Given the description of an element on the screen output the (x, y) to click on. 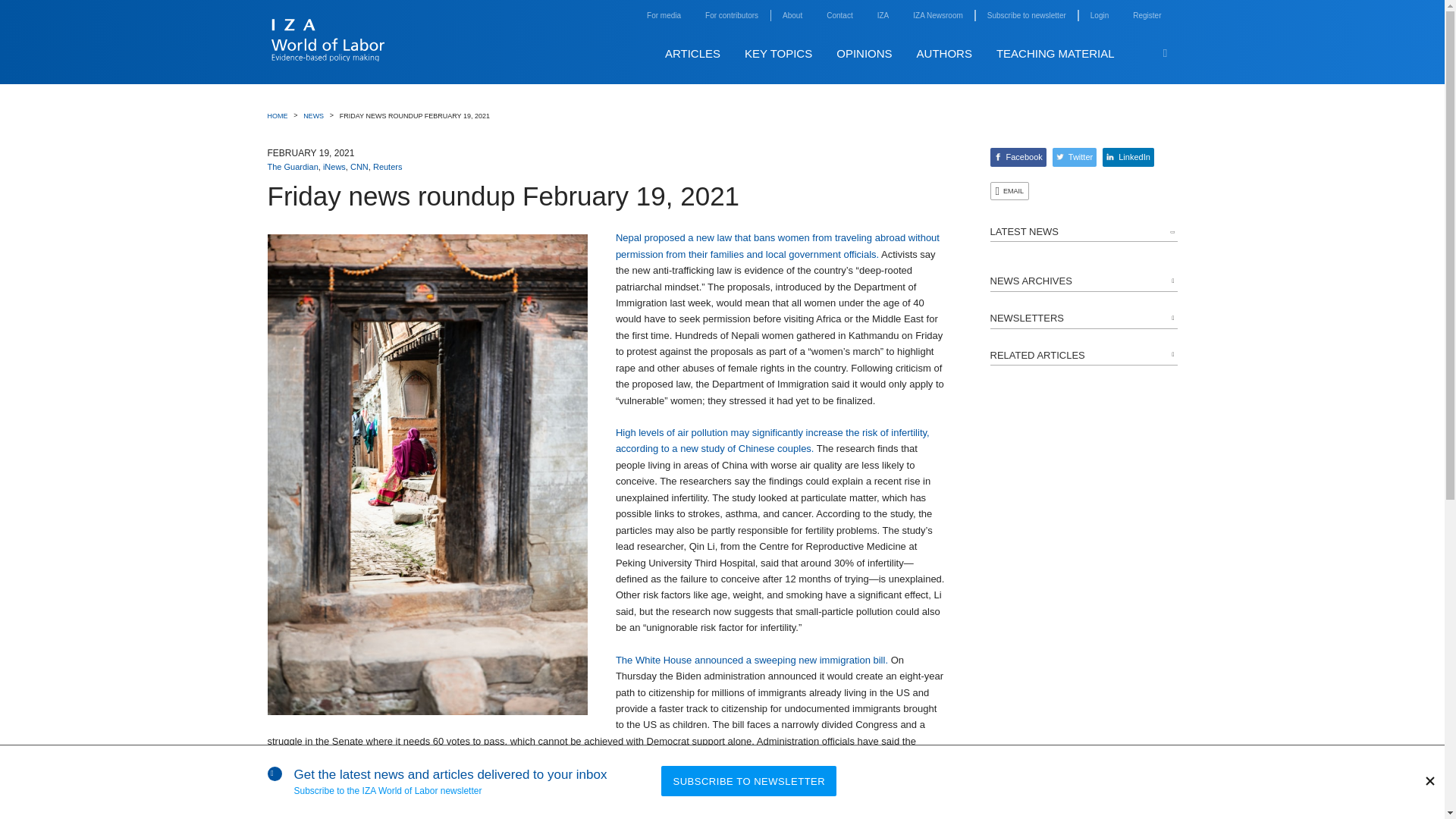
IZA Newsroom (937, 15)
register (1146, 15)
for contributors (731, 15)
Skip to main content (1189, 37)
contact (839, 15)
Login (1099, 15)
about (792, 15)
ARTICLES (692, 52)
For media (663, 15)
subscribe to newsletter (1026, 15)
